Given the description of an element on the screen output the (x, y) to click on. 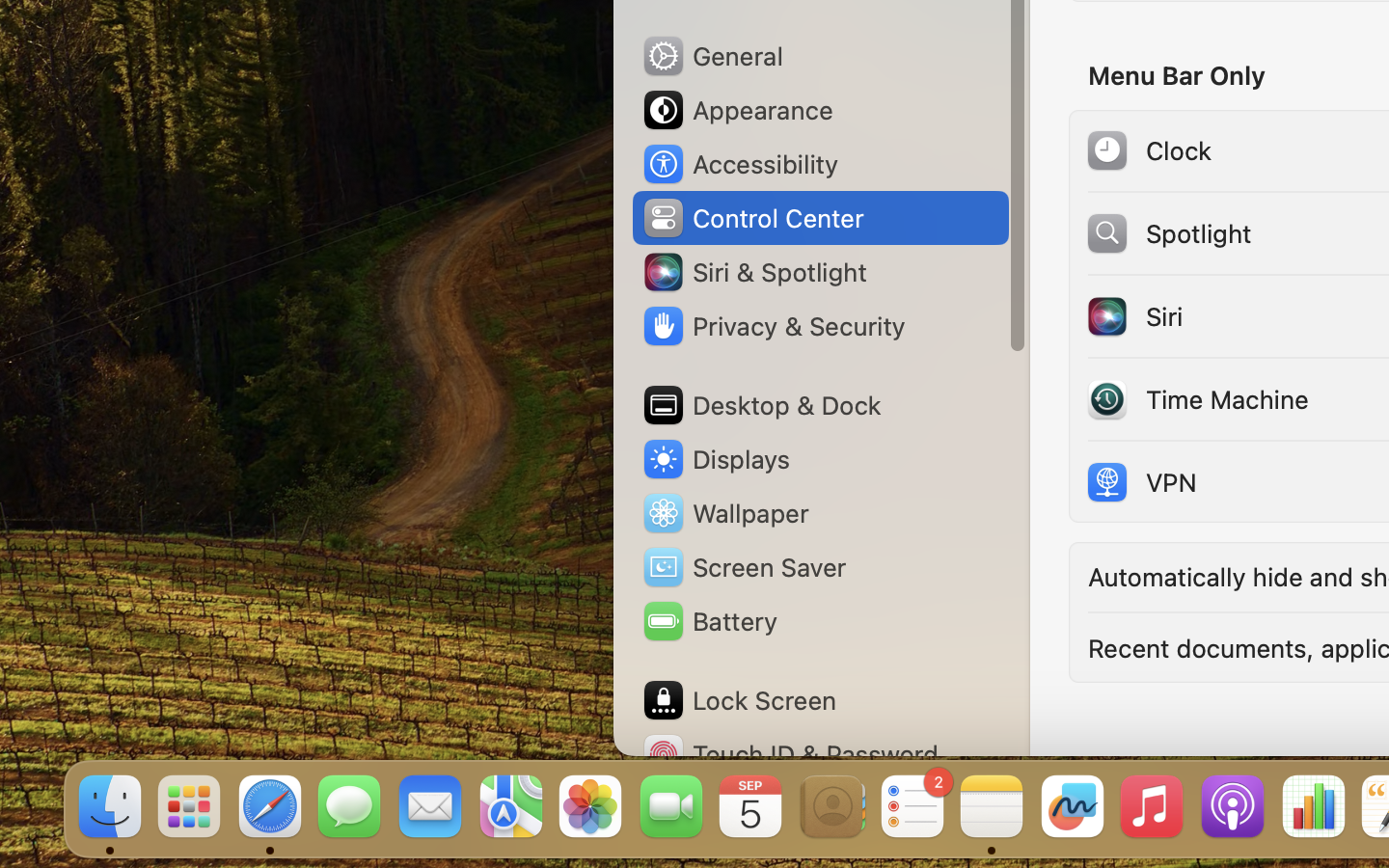
Displays Element type: AXStaticText (715, 458)
VPN Element type: AXStaticText (1140, 482)
Privacy & Security Element type: AXStaticText (772, 325)
Siri & Spotlight Element type: AXStaticText (753, 271)
Touch ID & Password Element type: AXStaticText (789, 754)
